Given the description of an element on the screen output the (x, y) to click on. 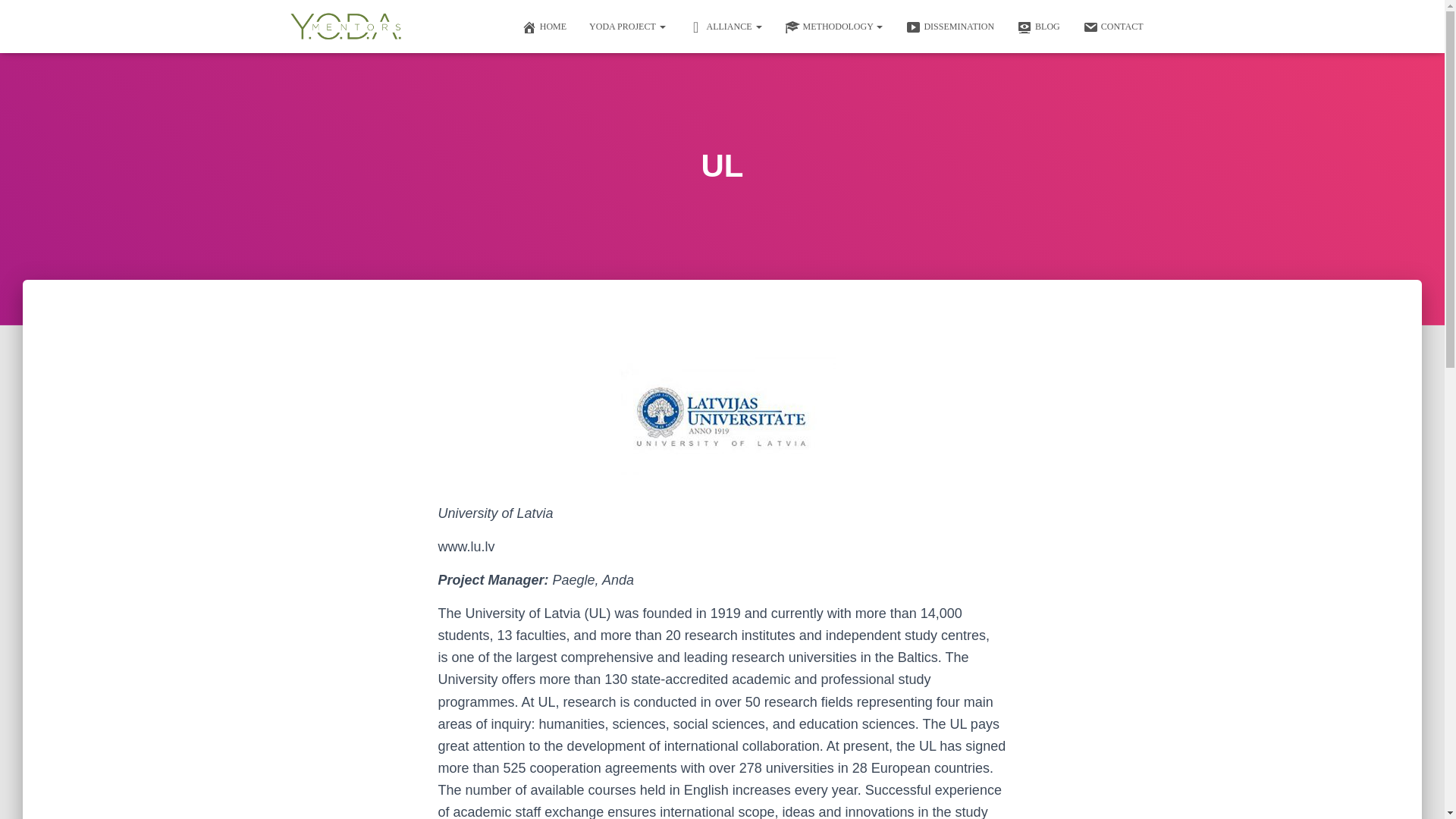
Yoda Project (627, 26)
METHODOLOGY (834, 26)
Alliance (725, 26)
HOME (544, 26)
CONTACT (1112, 26)
YODA PROJECT (627, 26)
Methodology (834, 26)
DISSEMINATION (949, 26)
BLOG (1038, 26)
Home (544, 26)
